Given the description of an element on the screen output the (x, y) to click on. 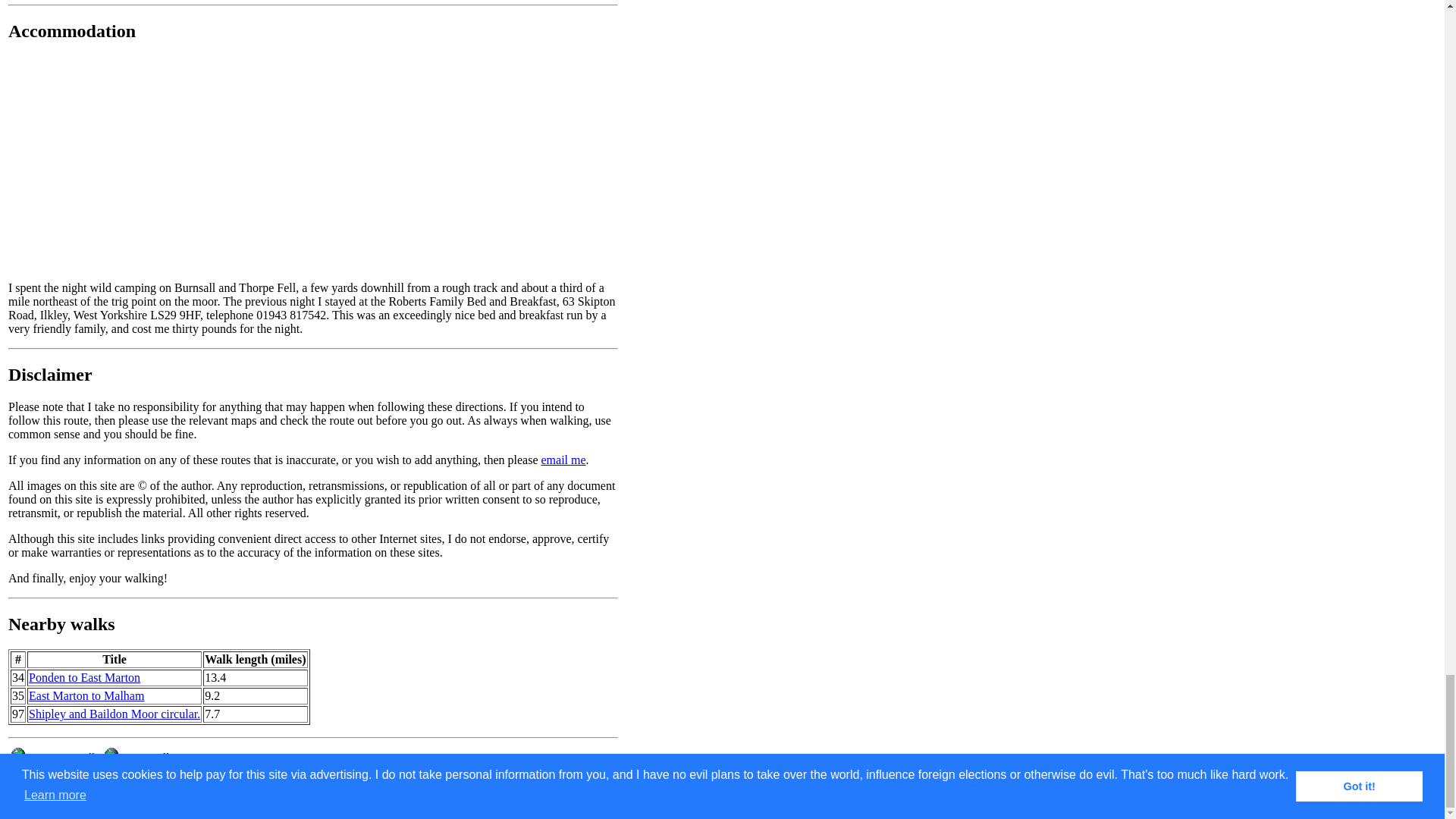
East Marton to Malham (86, 695)
Ponden to East Marton (84, 676)
 Next walk (137, 757)
Shipley and Baildon Moor circular. (114, 713)
email me (562, 459)
 Previous walk (53, 757)
